Given the description of an element on the screen output the (x, y) to click on. 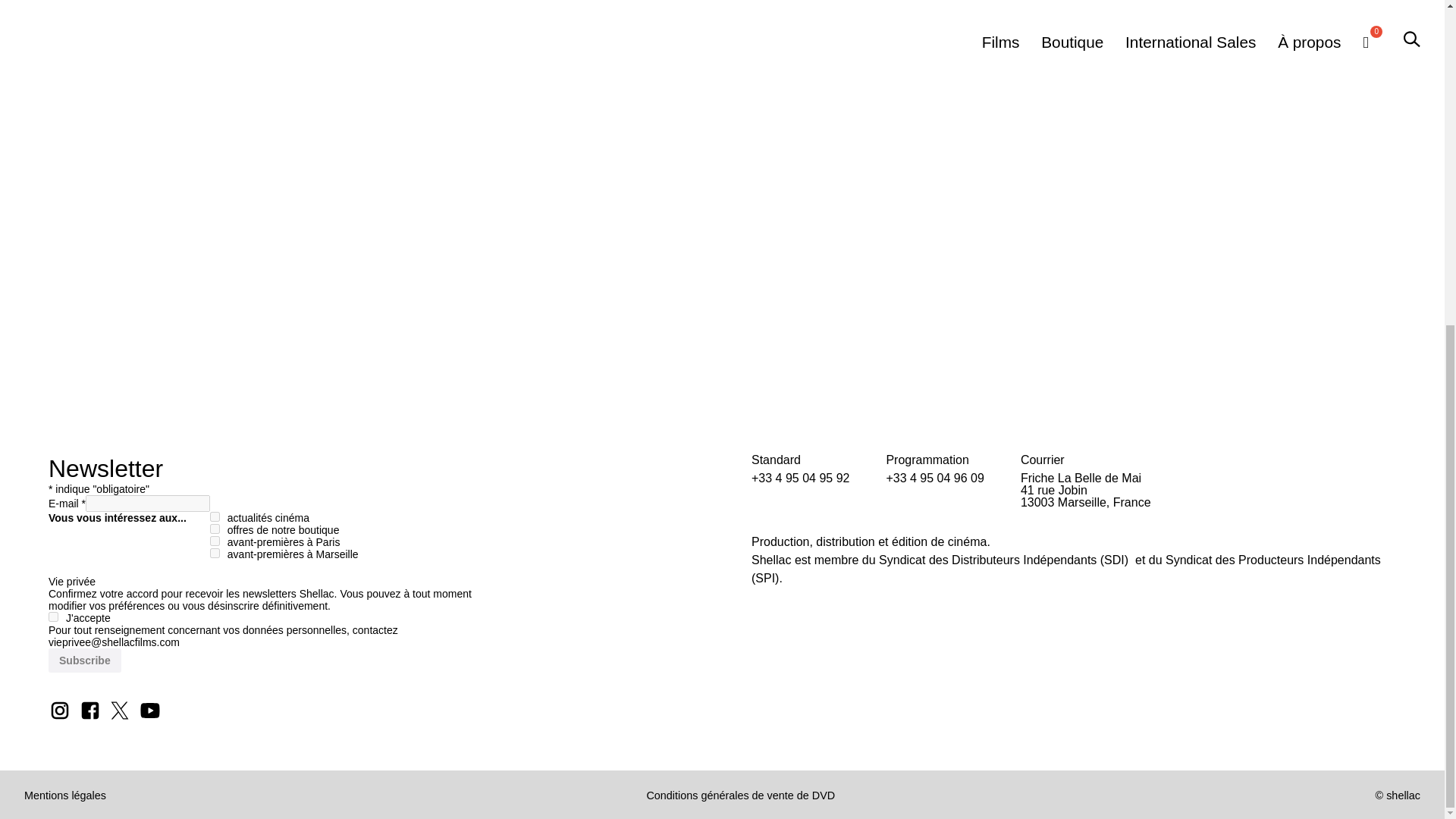
Y (53, 616)
Subscribe (84, 659)
Subscribe (84, 659)
